Given the description of an element on the screen output the (x, y) to click on. 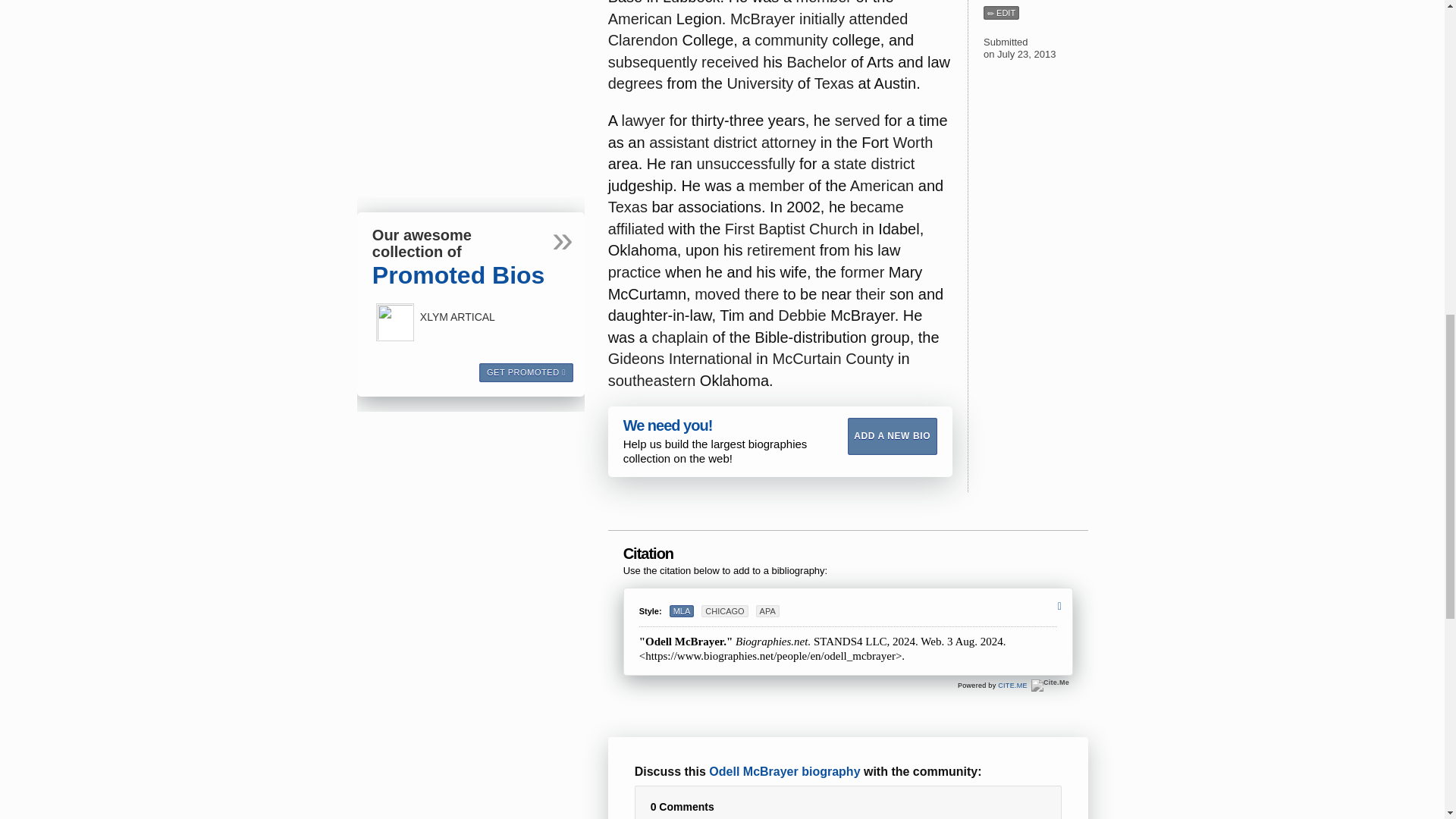
click to edit Odell McBrayer biography (1001, 12)
XLYM ARTICAL (394, 322)
Cite.Me (1049, 685)
Cite.Me (1012, 685)
Cite.Me (1050, 685)
